Given the description of an element on the screen output the (x, y) to click on. 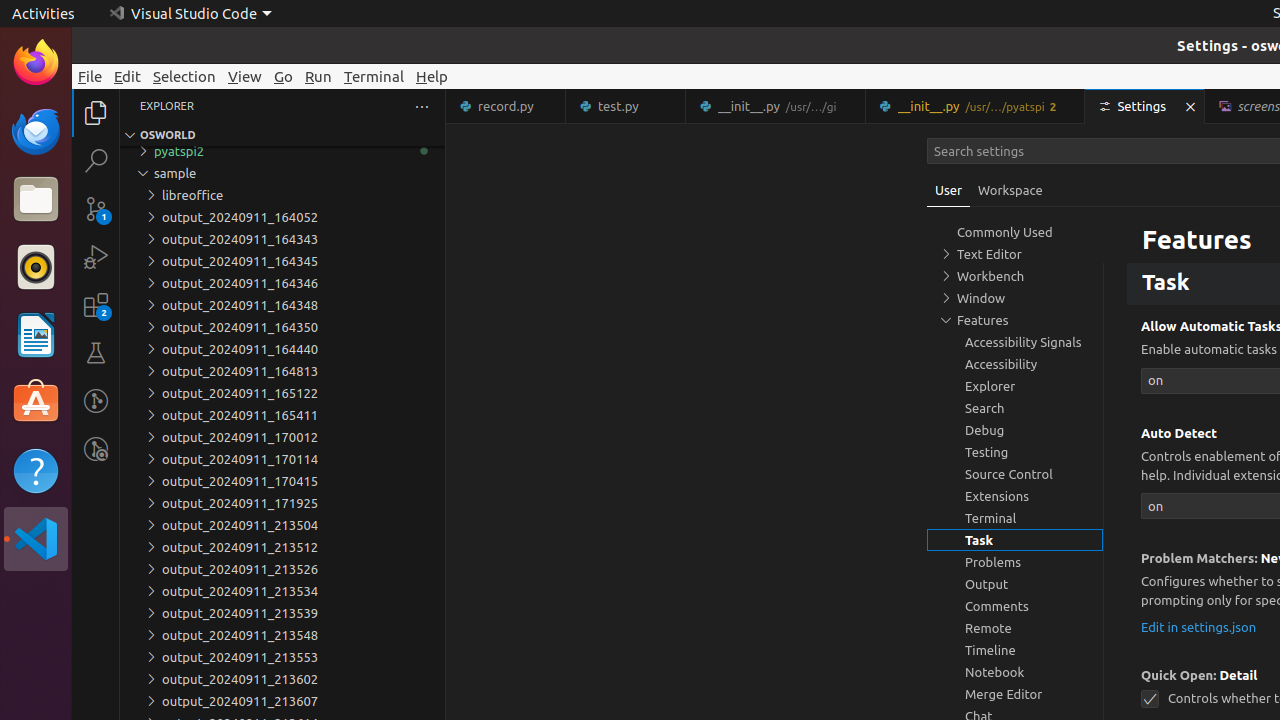
Source Control, group Element type: tree-item (1015, 474)
output_20240911_164346 Element type: tree-item (282, 283)
output_20240911_213602 Element type: tree-item (282, 679)
task.quickOpen.detail Element type: check-box (1150, 699)
